Given the description of an element on the screen output the (x, y) to click on. 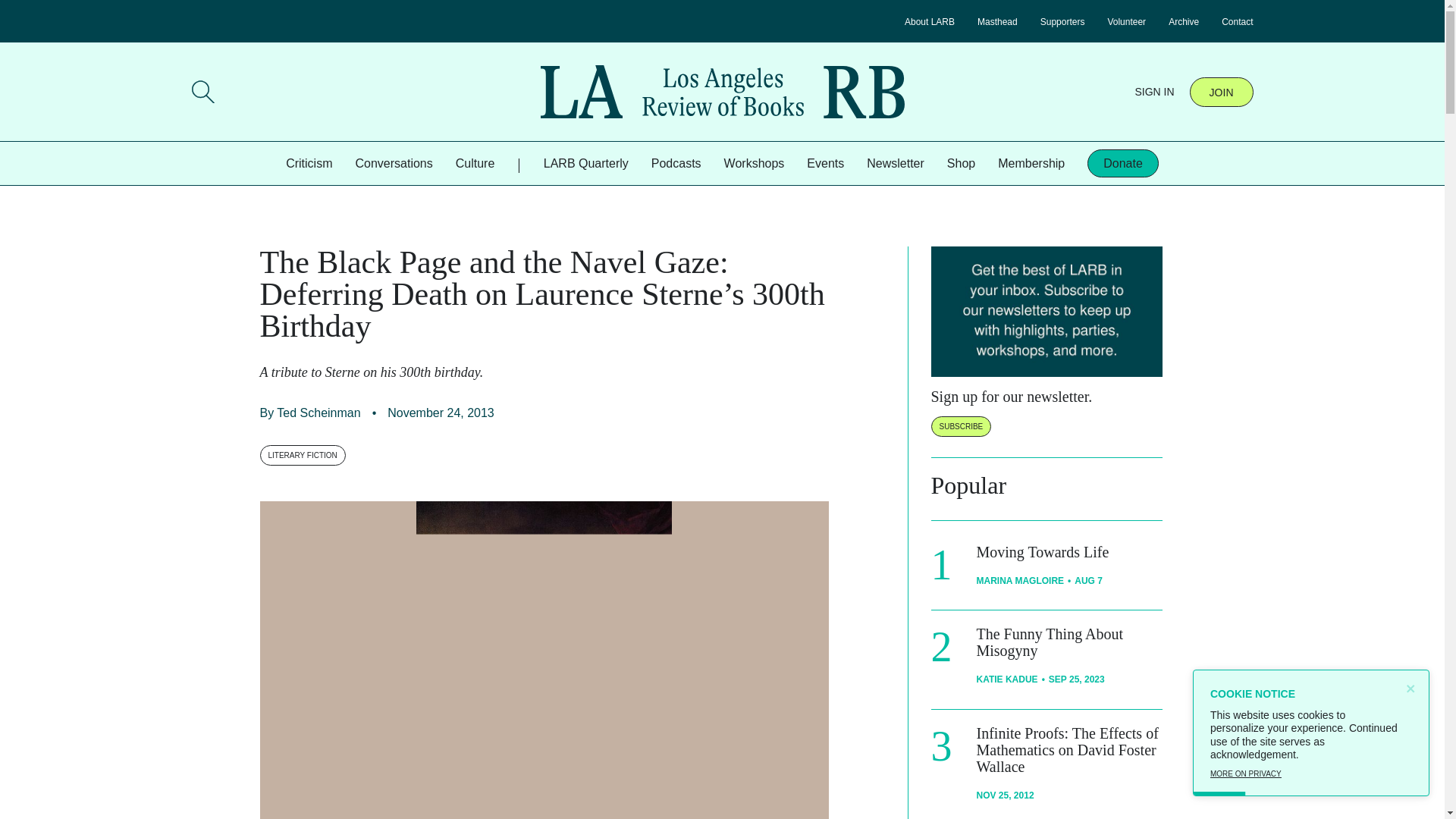
Moving Towards Life (1042, 551)
Newsletter (895, 163)
SIGN IN (1153, 91)
Workshops (753, 163)
LARB Quarterly (585, 163)
Conversations (393, 163)
Donate (1122, 163)
Criticism (308, 163)
Ted Scheinman (317, 412)
Podcasts (675, 163)
